Given the description of an element on the screen output the (x, y) to click on. 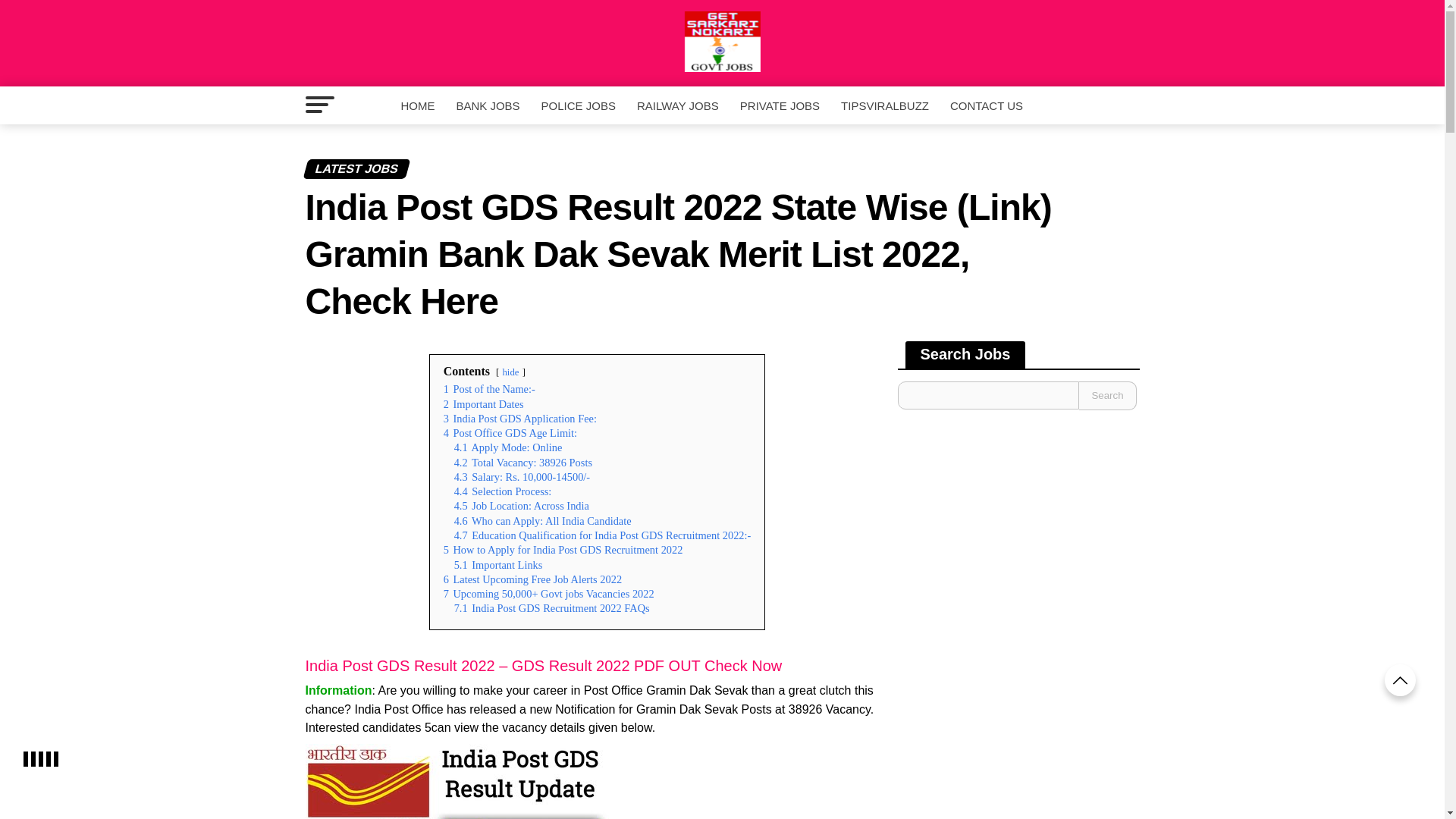
5 How to Apply for India Post GDS Recruitment 2022 (563, 549)
4.6 Who can Apply: All India Candidate (542, 521)
4.2 Total Vacancy: 38926 Posts (523, 462)
LATEST JOBS (721, 164)
4.1 Apply Mode: Online (508, 447)
POLICE JOBS (578, 105)
BANK JOBS (487, 105)
PRIVATE JOBS (779, 105)
Search (1107, 395)
4.4 Selection Process: (502, 491)
